Given the description of an element on the screen output the (x, y) to click on. 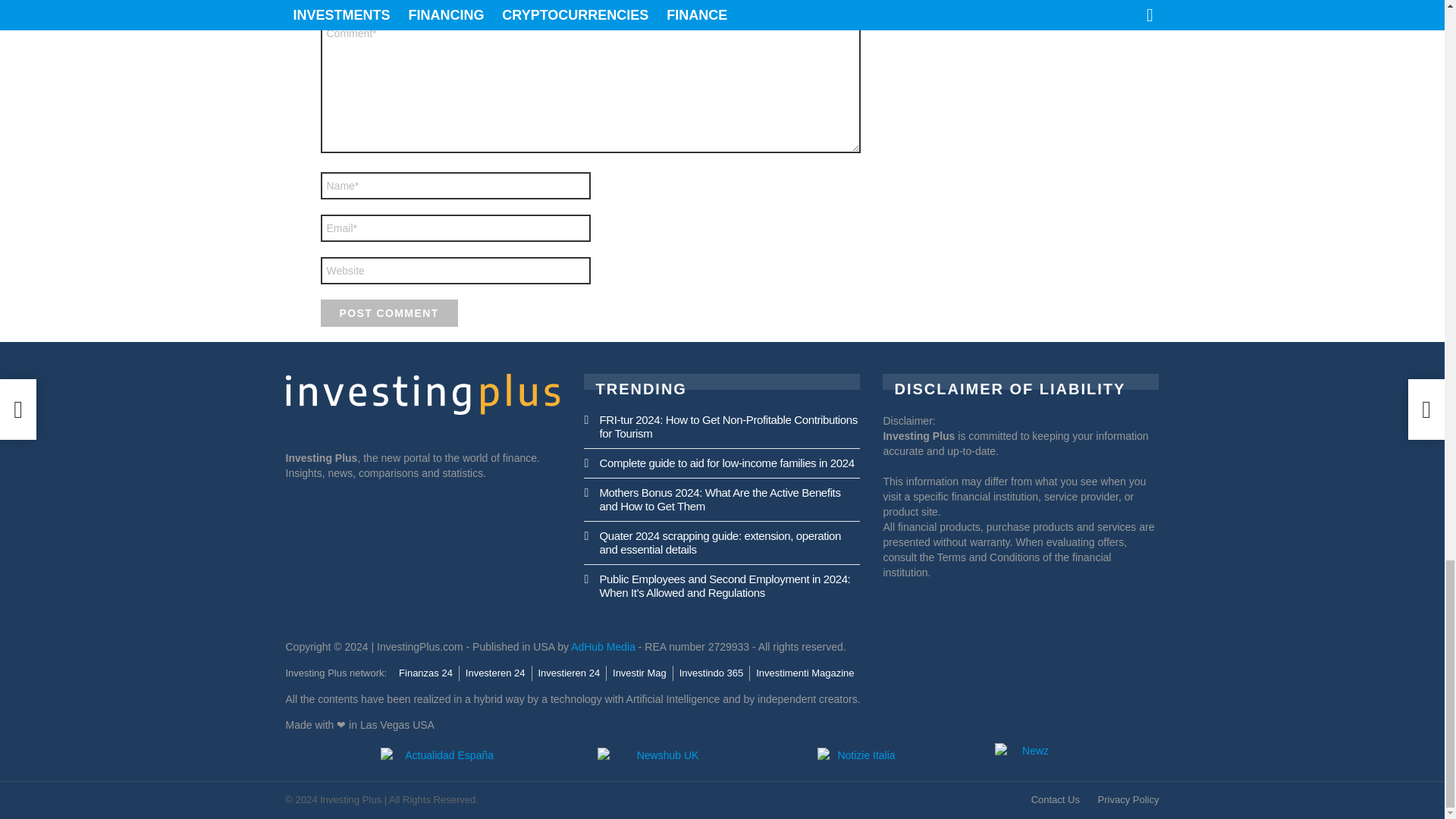
Complete guide to aid for low-income families in 2024 (725, 462)
Investing Plus network: (336, 673)
AdHub Media (602, 646)
Post Comment (388, 312)
Post Comment (388, 312)
